Given the description of an element on the screen output the (x, y) to click on. 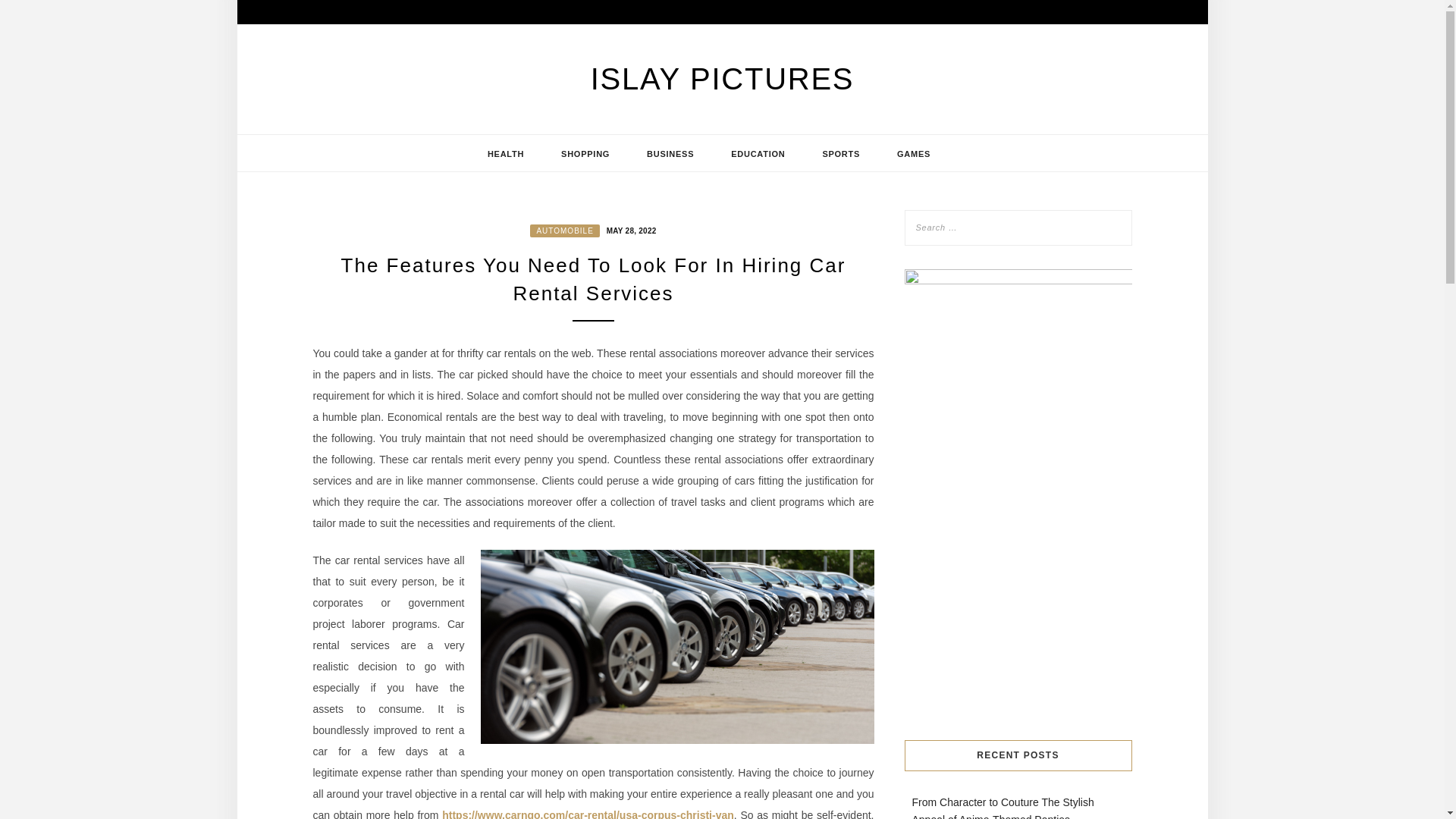
EDUCATION (757, 153)
SHOPPING (584, 153)
BUSINESS (670, 153)
SPORTS (840, 153)
MAY 28, 2022 (629, 229)
ISLAY PICTURES (722, 78)
Search (28, 11)
HEALTH (505, 153)
AUTOMOBILE (563, 230)
GAMES (913, 153)
